Given the description of an element on the screen output the (x, y) to click on. 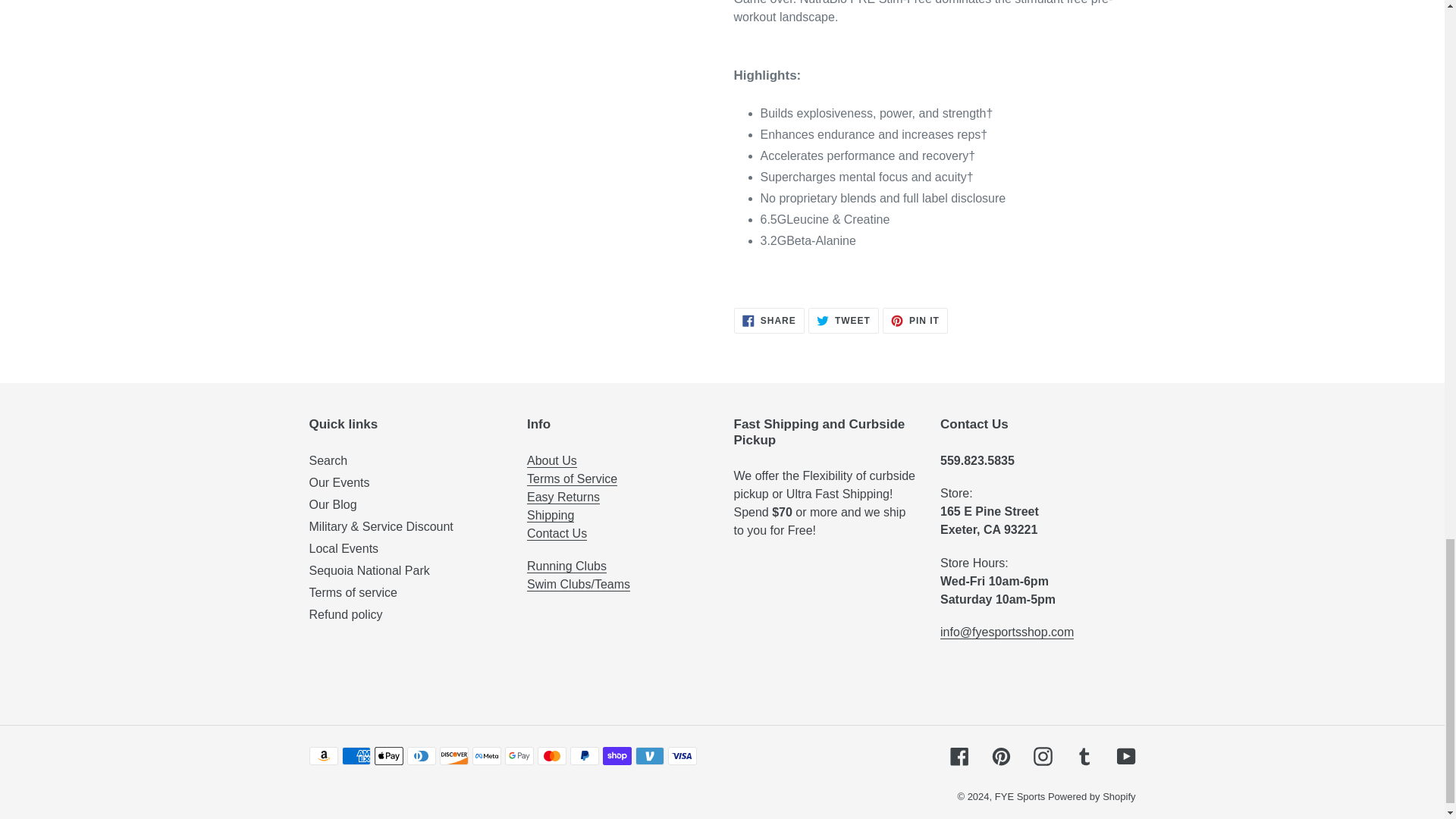
Running Clubs (567, 566)
Swim Department (578, 584)
Easy Returns (563, 497)
About Us (551, 460)
Terms of Service (572, 479)
Shipping (550, 515)
Contact Us (556, 533)
